Given the description of an element on the screen output the (x, y) to click on. 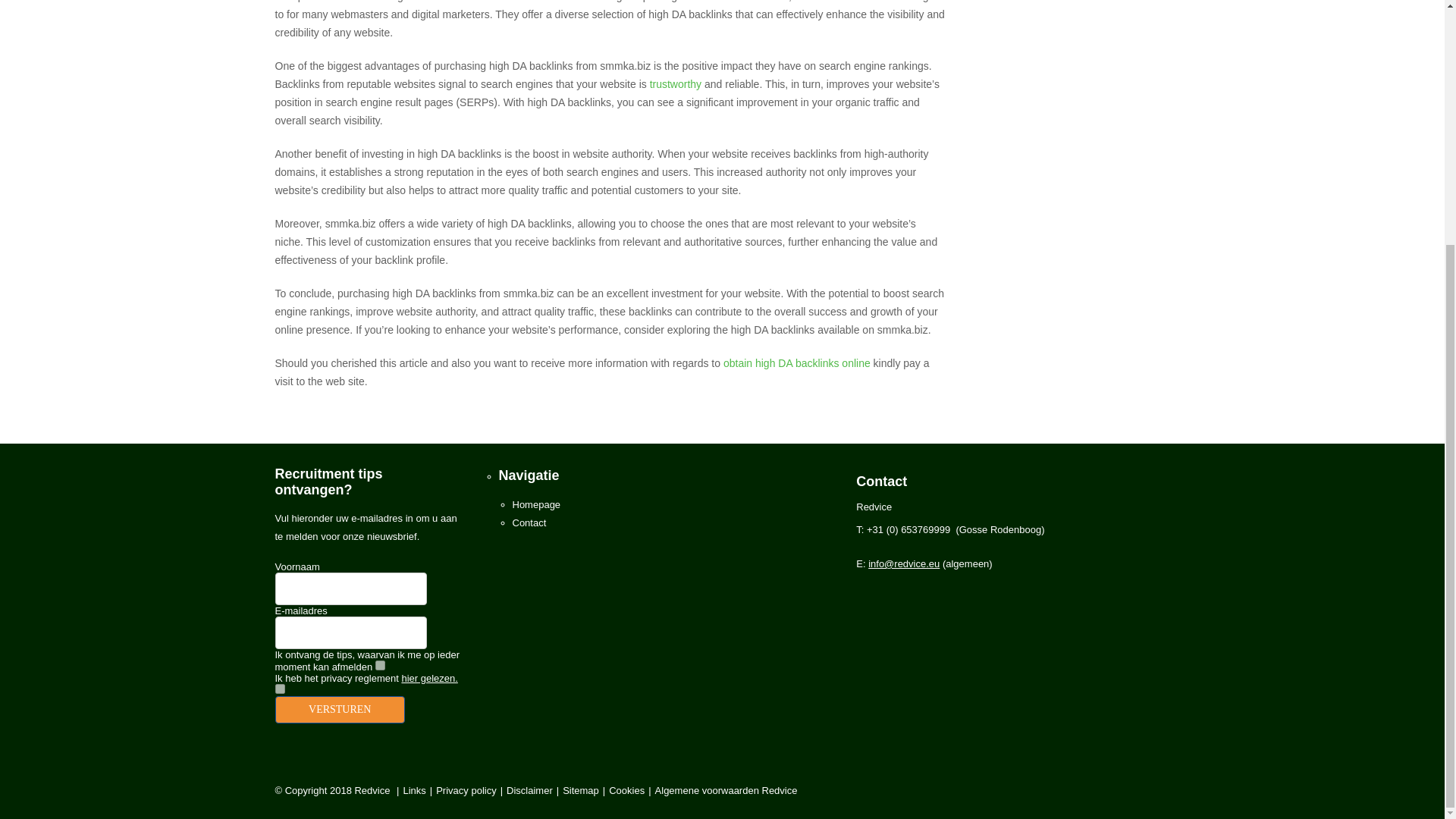
Disclaimer (529, 790)
klik hier (339, 709)
Homepage (536, 504)
Links (414, 790)
on (380, 665)
Privacy policy (465, 790)
Algemene voorwaarden Redvice (726, 790)
sitemap (580, 790)
on (279, 688)
disclaimer (529, 790)
